Given the description of an element on the screen output the (x, y) to click on. 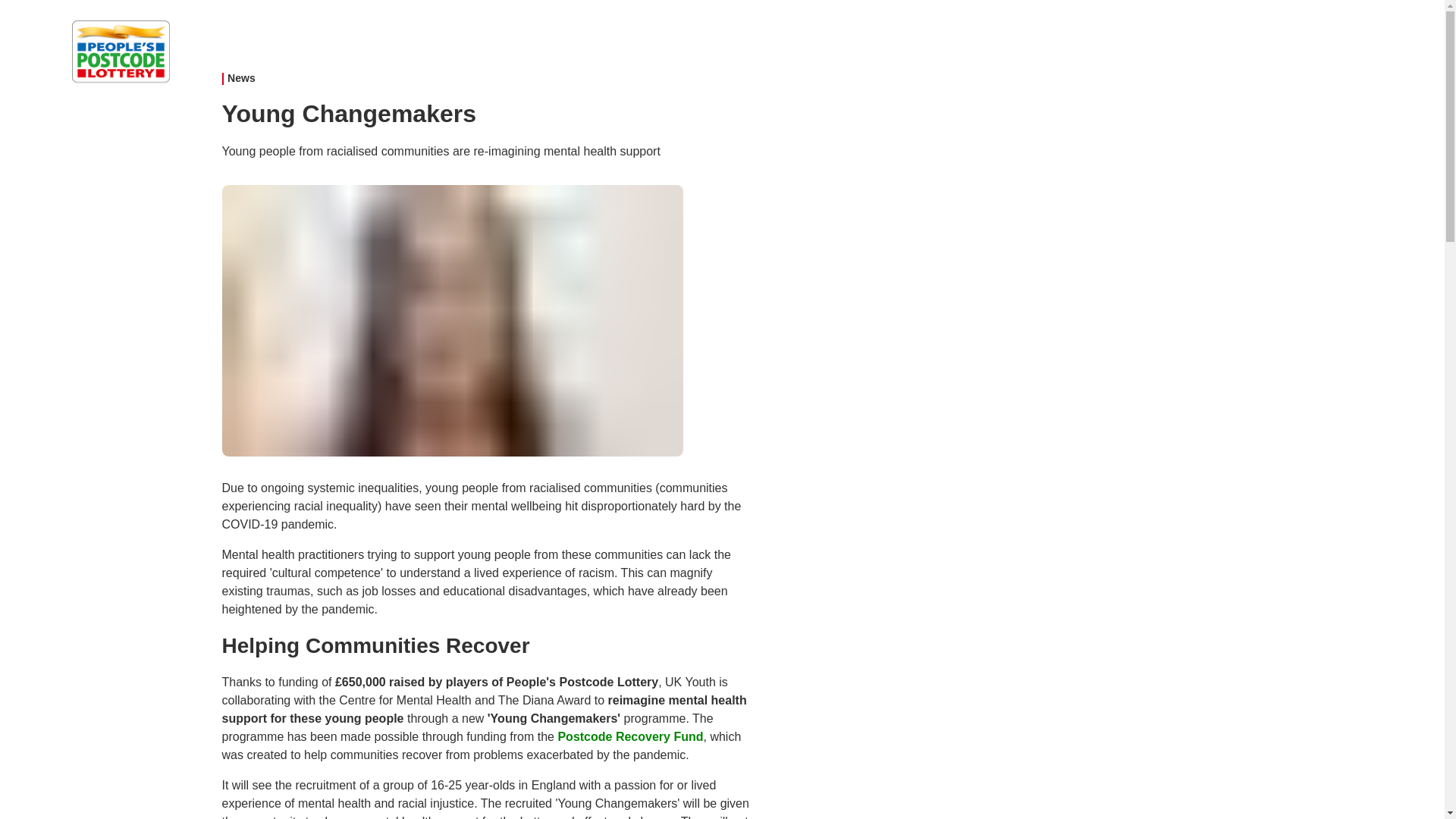
Postcode Recovery Fund (630, 736)
